Given the description of an element on the screen output the (x, y) to click on. 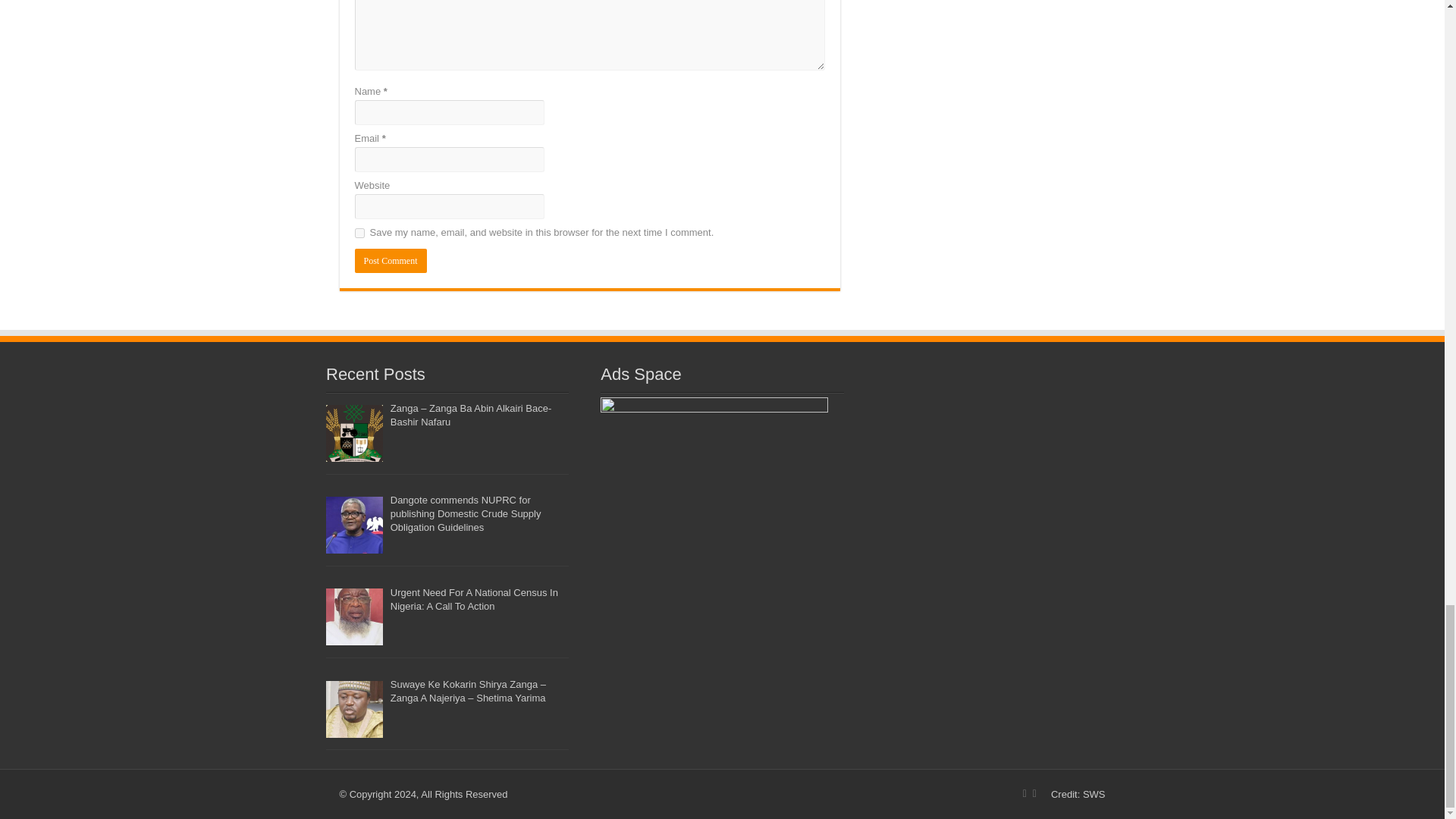
Post Comment (390, 260)
yes (360, 233)
